Given the description of an element on the screen output the (x, y) to click on. 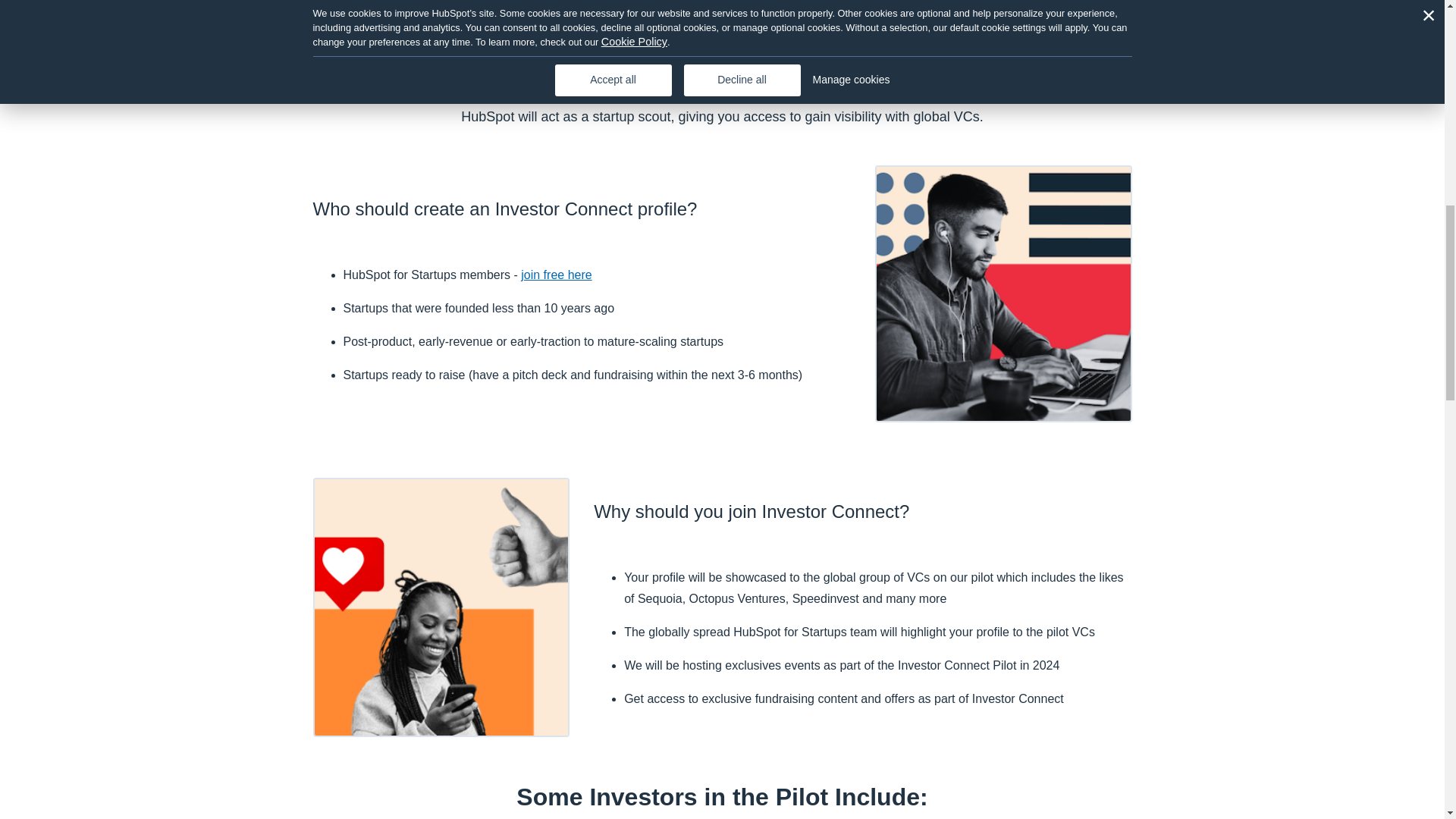
join free here (556, 274)
